Given the description of an element on the screen output the (x, y) to click on. 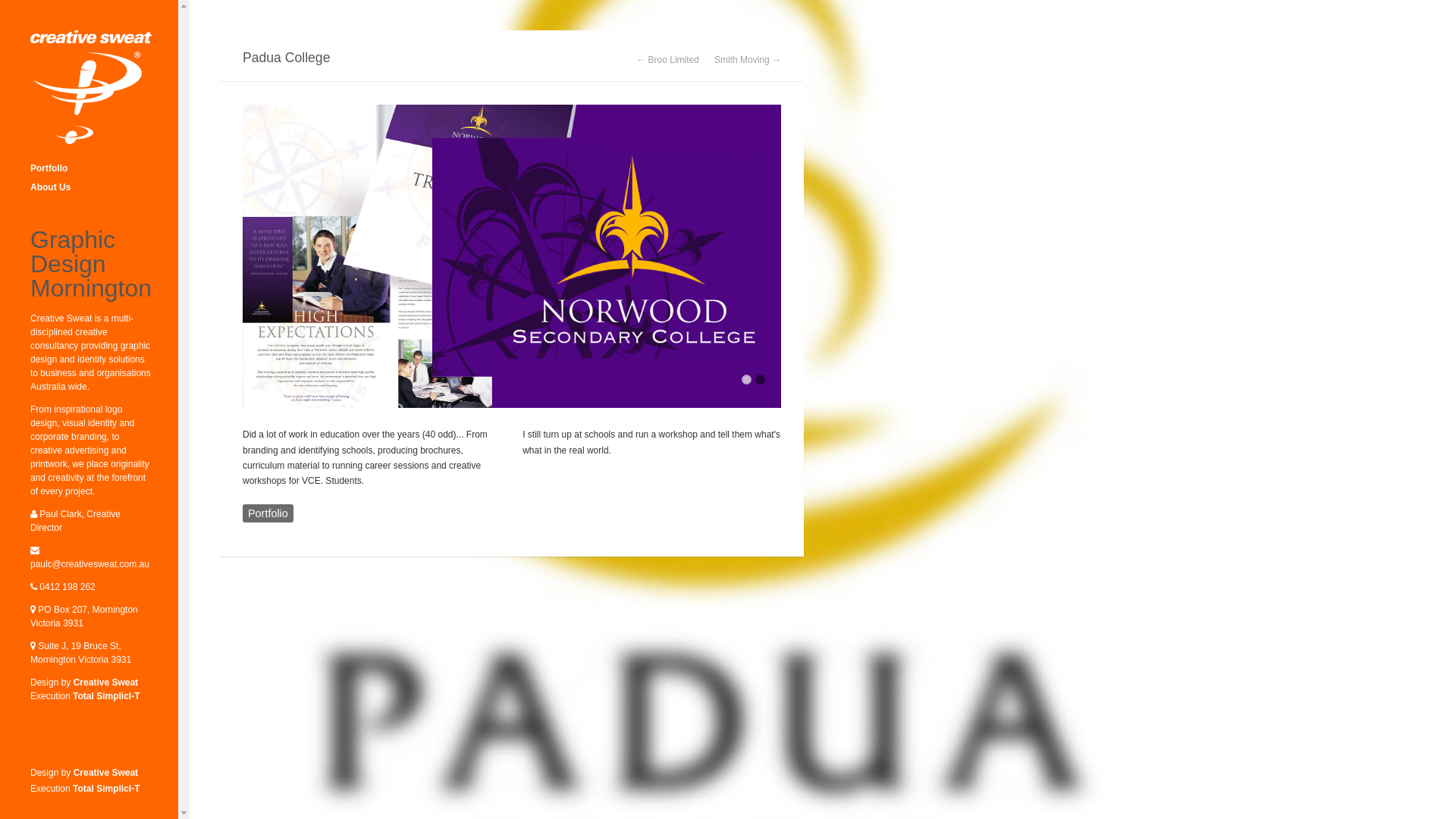
Graphic Design Mornington Element type: hover (90, 87)
paulc@creativesweat.com.au Element type: text (89, 563)
Creative Sweat Element type: text (105, 772)
About Us Element type: text (90, 187)
Total SimplicI-T Element type: text (105, 788)
1 Element type: text (746, 379)
2 Element type: text (760, 379)
Portfolio Element type: text (267, 513)
Creative Sweat Element type: text (105, 682)
Total SimplicI-T Element type: text (105, 695)
Norwood Element type: hover (511, 255)
Portfolio Element type: text (90, 168)
